Given the description of an element on the screen output the (x, y) to click on. 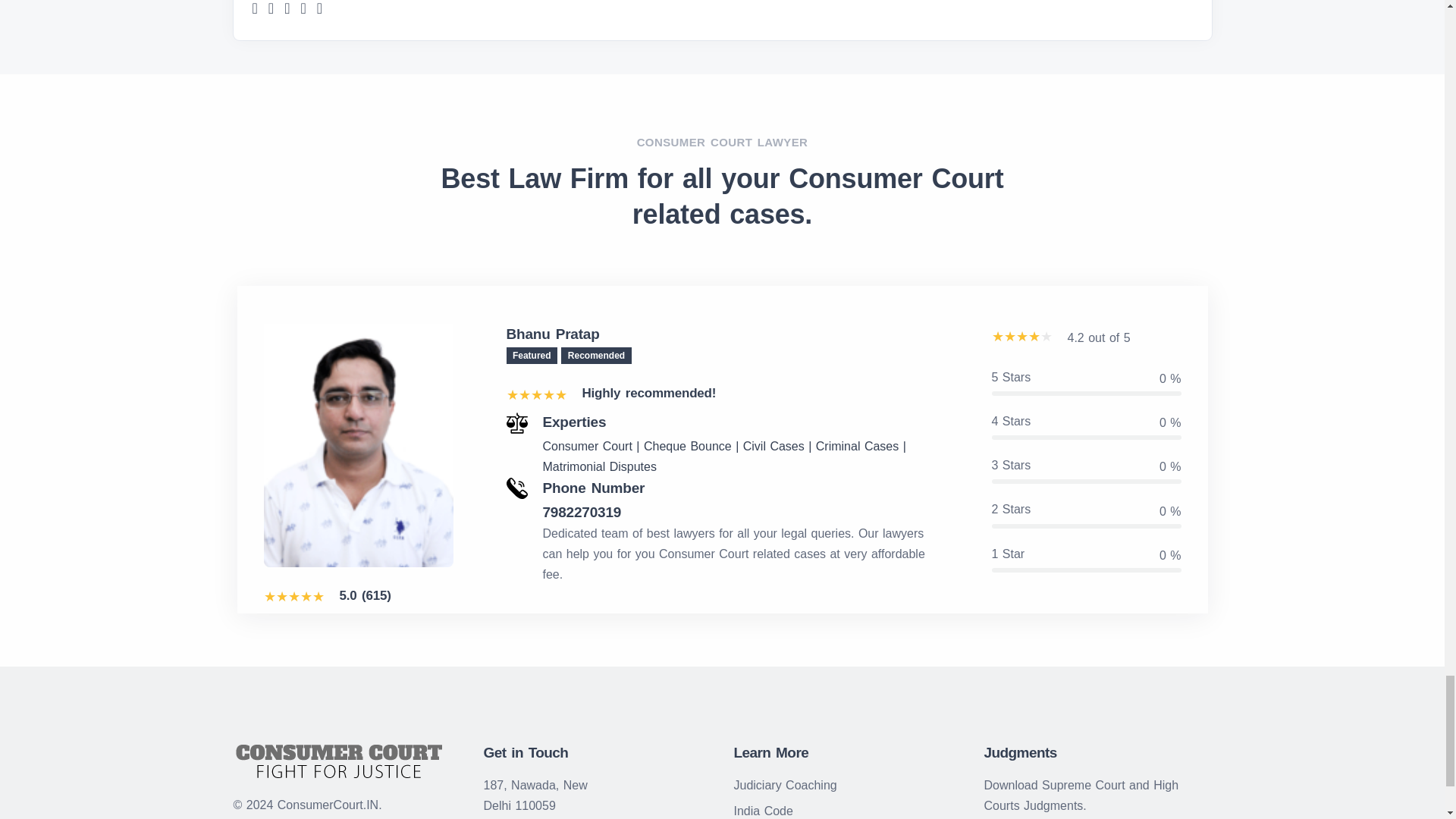
7982270319 (741, 512)
